Given the description of an element on the screen output the (x, y) to click on. 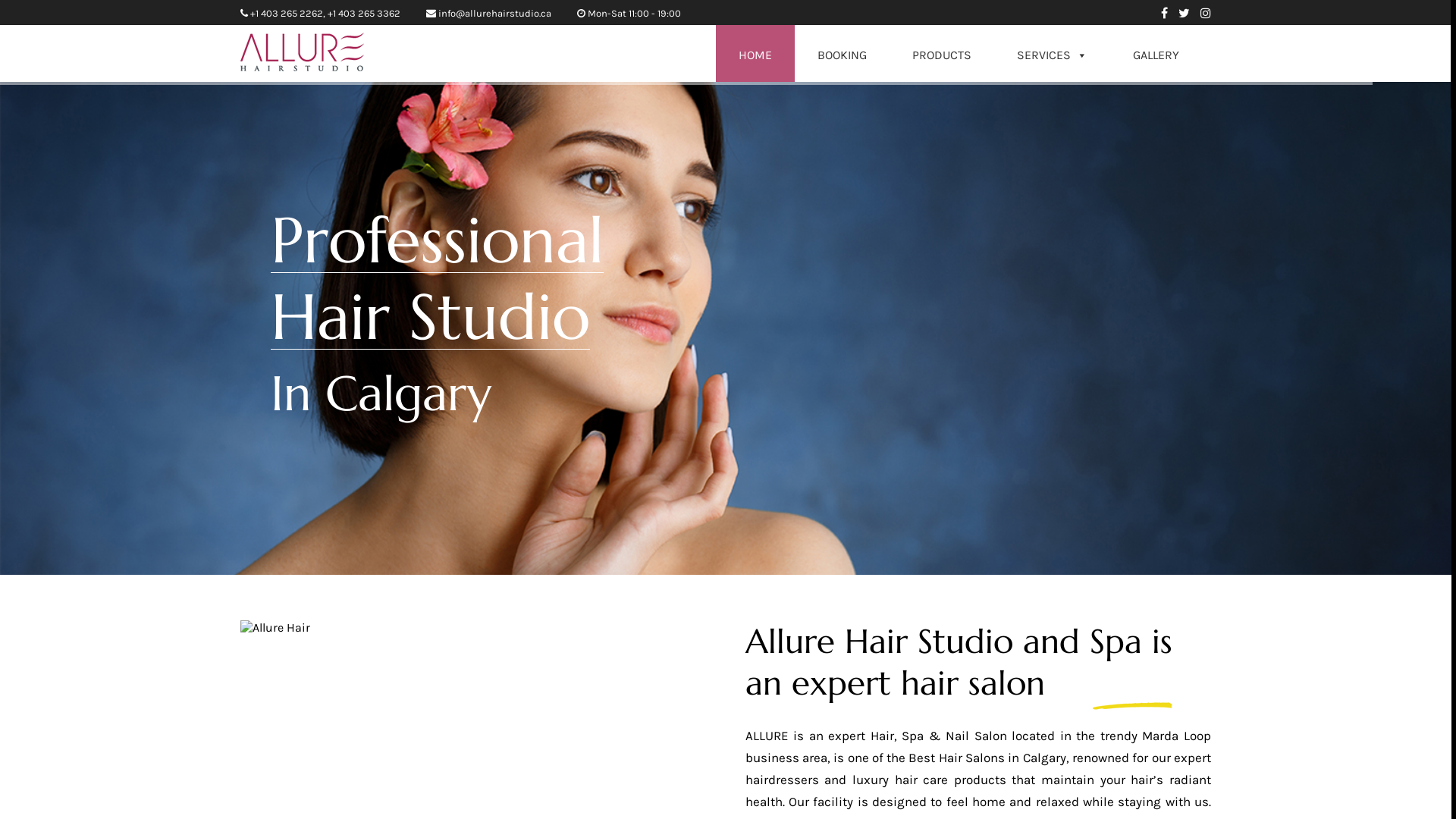
HOME Element type: text (754, 53)
SERVICES Element type: text (1052, 53)
BOOKING Element type: text (841, 53)
+1 403 265 3362 Element type: text (363, 12)
PRODUCTS Element type: text (941, 53)
GALLERY Element type: text (1155, 53)
info@allurehairstudio.ca Element type: text (494, 12)
+1 403 265 2262 Element type: text (286, 12)
